Given the description of an element on the screen output the (x, y) to click on. 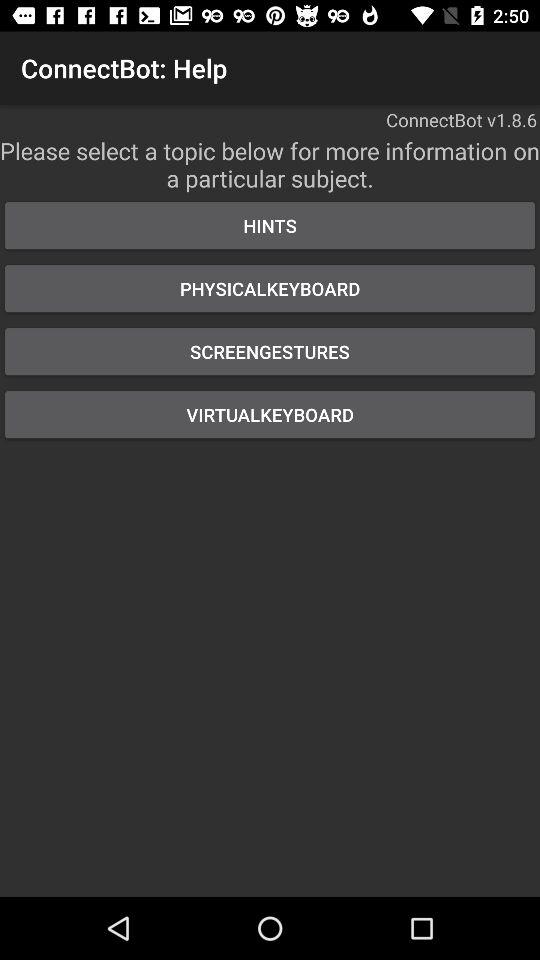
open the item below the physicalkeyboard (270, 351)
